Given the description of an element on the screen output the (x, y) to click on. 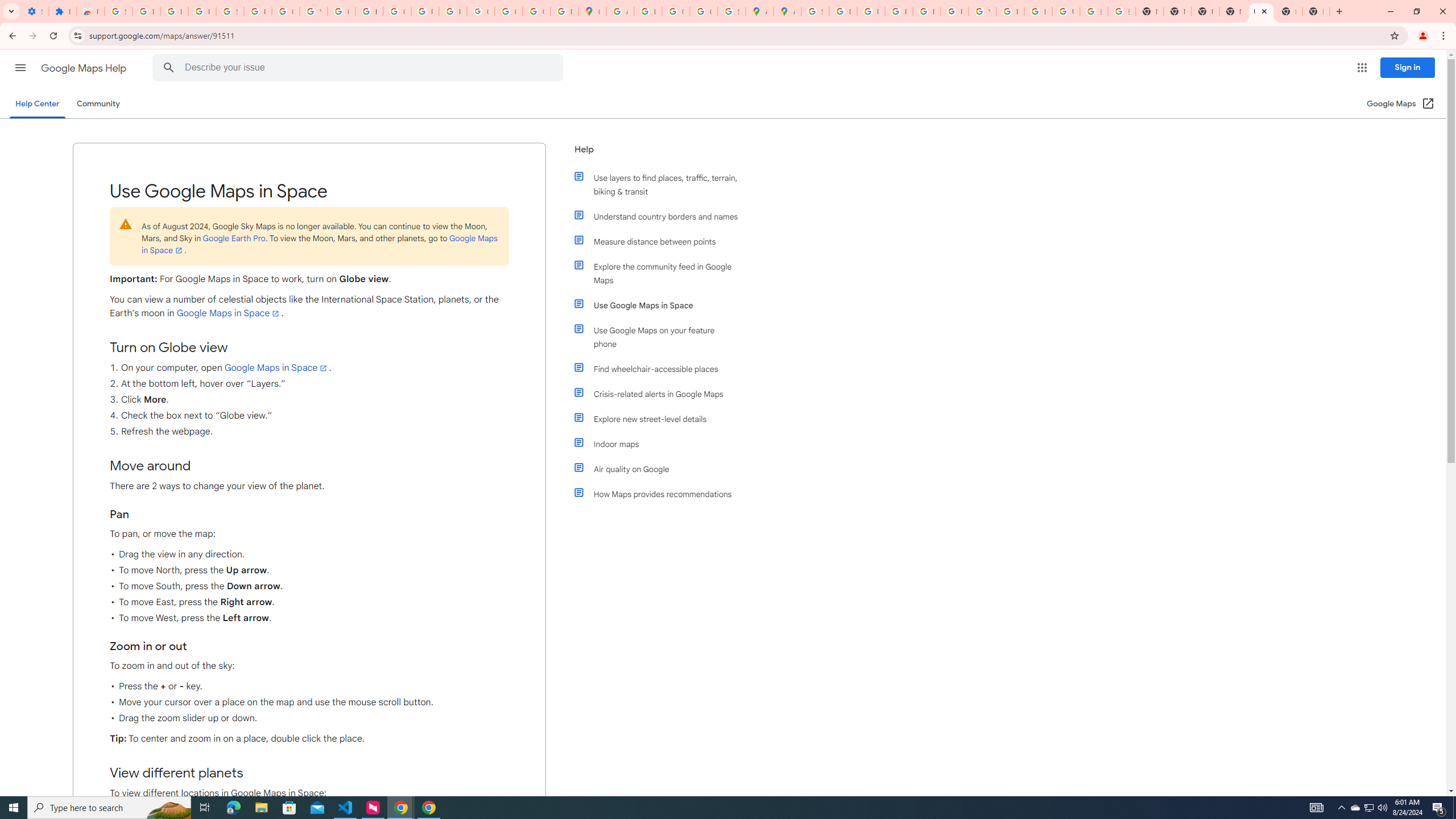
Google Earth Pro (233, 238)
New Tab (1316, 11)
New Tab (1288, 11)
Privacy Help Center - Policies Help (870, 11)
Google Maps (592, 11)
YouTube (982, 11)
Sign in - Google Accounts (815, 11)
